Given the description of an element on the screen output the (x, y) to click on. 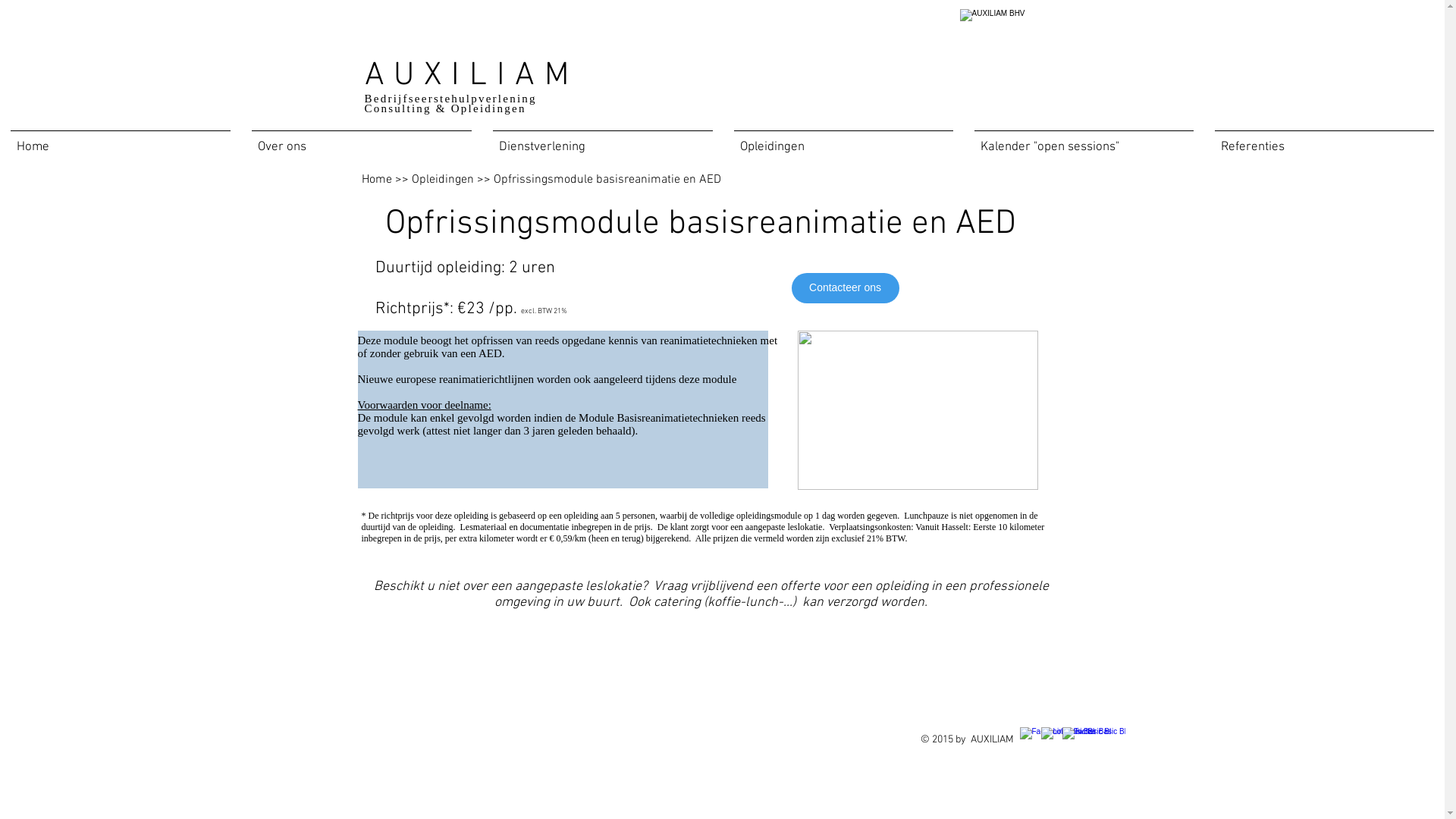
Referenties Element type: text (1324, 140)
Contacteer ons Element type: text (845, 288)
Depositphotos_10296177_s-2015.jpg Element type: hover (917, 409)
Consulting & Opleidingen Element type: text (444, 108)
Over ons Element type: text (361, 140)
Bedrijfseerstehulpverlening    Element type: text (456, 98)
Home Element type: text (120, 140)
Dienstverlening Element type: text (602, 140)
Home Element type: text (375, 179)
Kalender "open sessions" Element type: text (1083, 140)
Opleidingen Element type: text (843, 140)
Opleidingen Element type: text (442, 179)
